Given the description of an element on the screen output the (x, y) to click on. 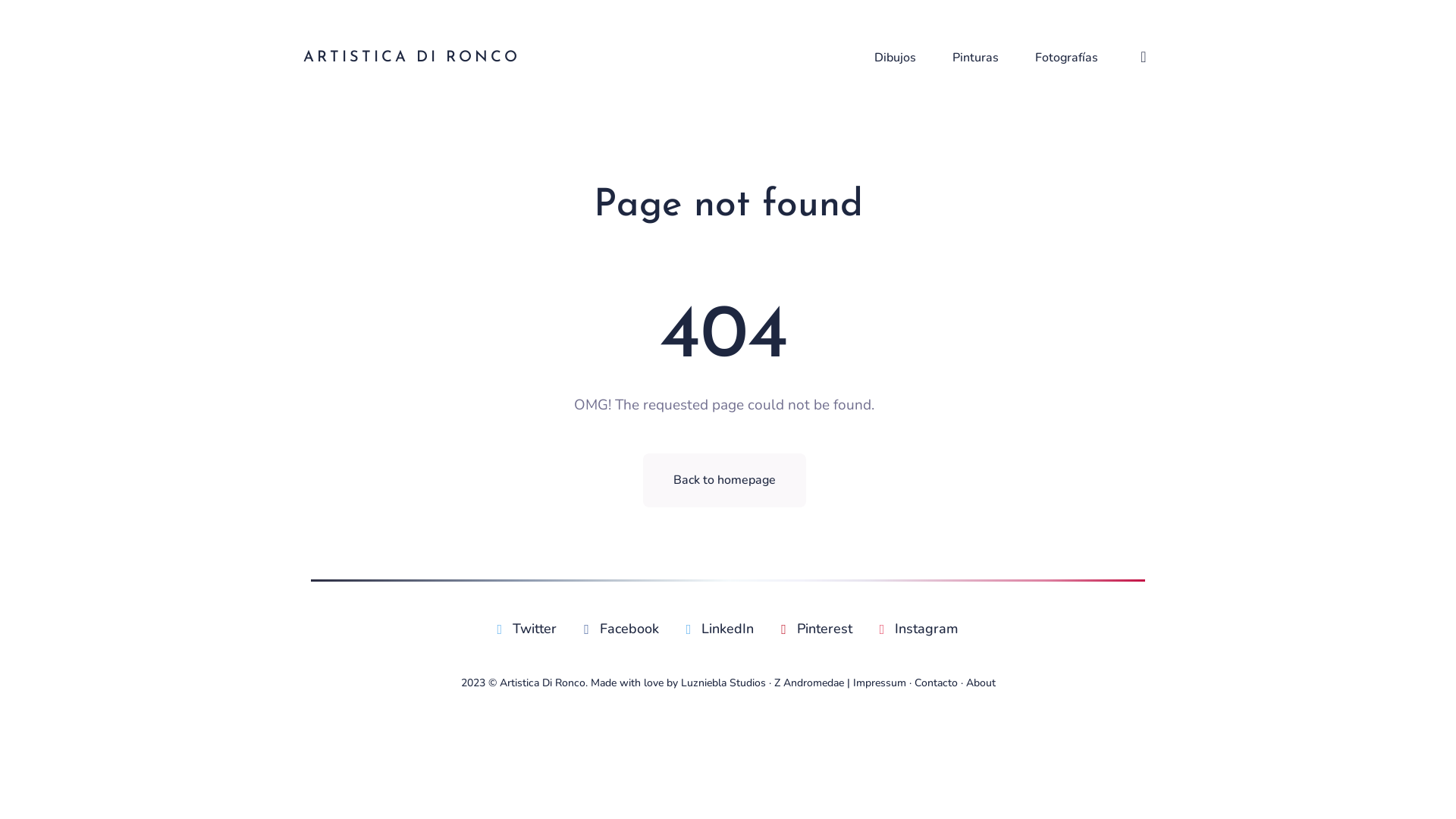
Impressum Element type: text (878, 682)
About Element type: text (980, 682)
Back to homepage Element type: text (724, 480)
Artistica Di Ronco Element type: text (541, 682)
Twitter Element type: text (527, 628)
Pinturas Element type: text (975, 57)
Instagram Element type: text (919, 628)
Facebook Element type: text (620, 628)
Contacto Element type: text (935, 682)
Enable dark mode Element type: hover (1142, 57)
LinkedIn Element type: text (720, 628)
Dibujos Element type: text (895, 57)
ARTISTICA DI RONCO Element type: text (411, 57)
Pinterest Element type: text (816, 628)
